Given the description of an element on the screen output the (x, y) to click on. 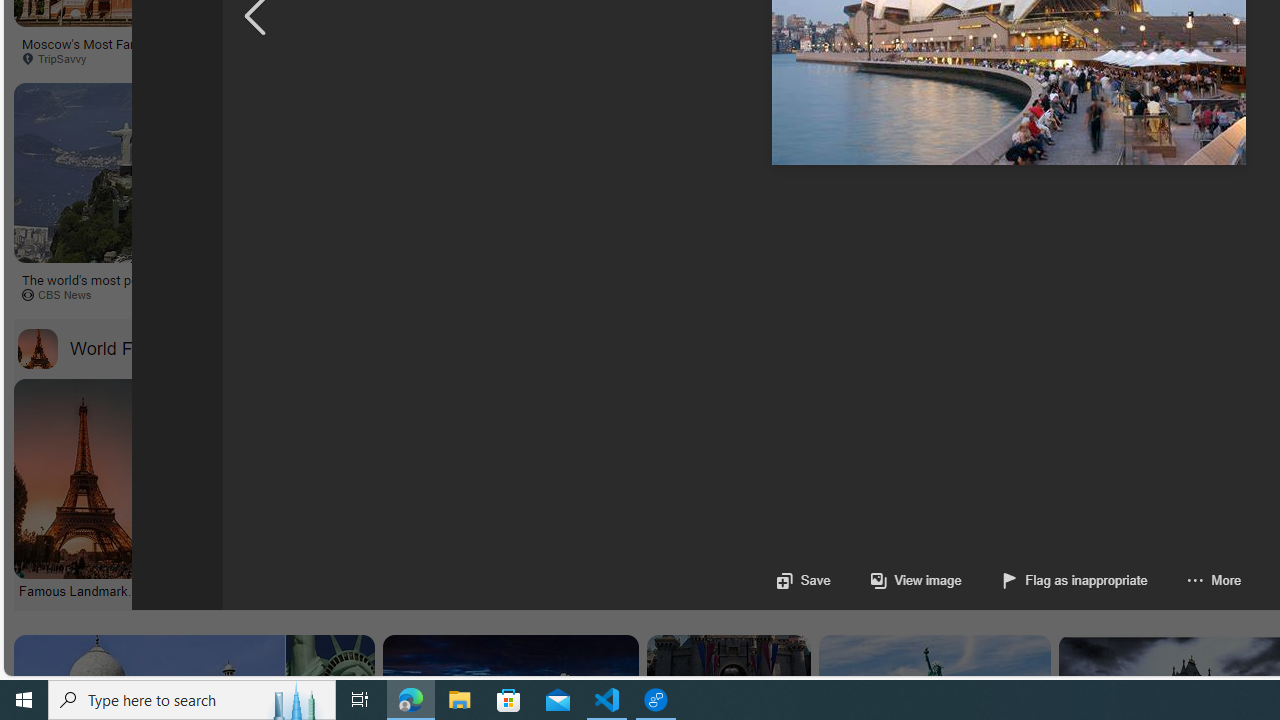
Save (802, 580)
TripSavvy (886, 294)
Canada's Best Attractions and Destinations (971, 279)
Canada's Best Attractions and DestinationsTripSavvySave (1013, 196)
More (1213, 580)
CBS News (700, 295)
Save (802, 580)
